Given the description of an element on the screen output the (x, y) to click on. 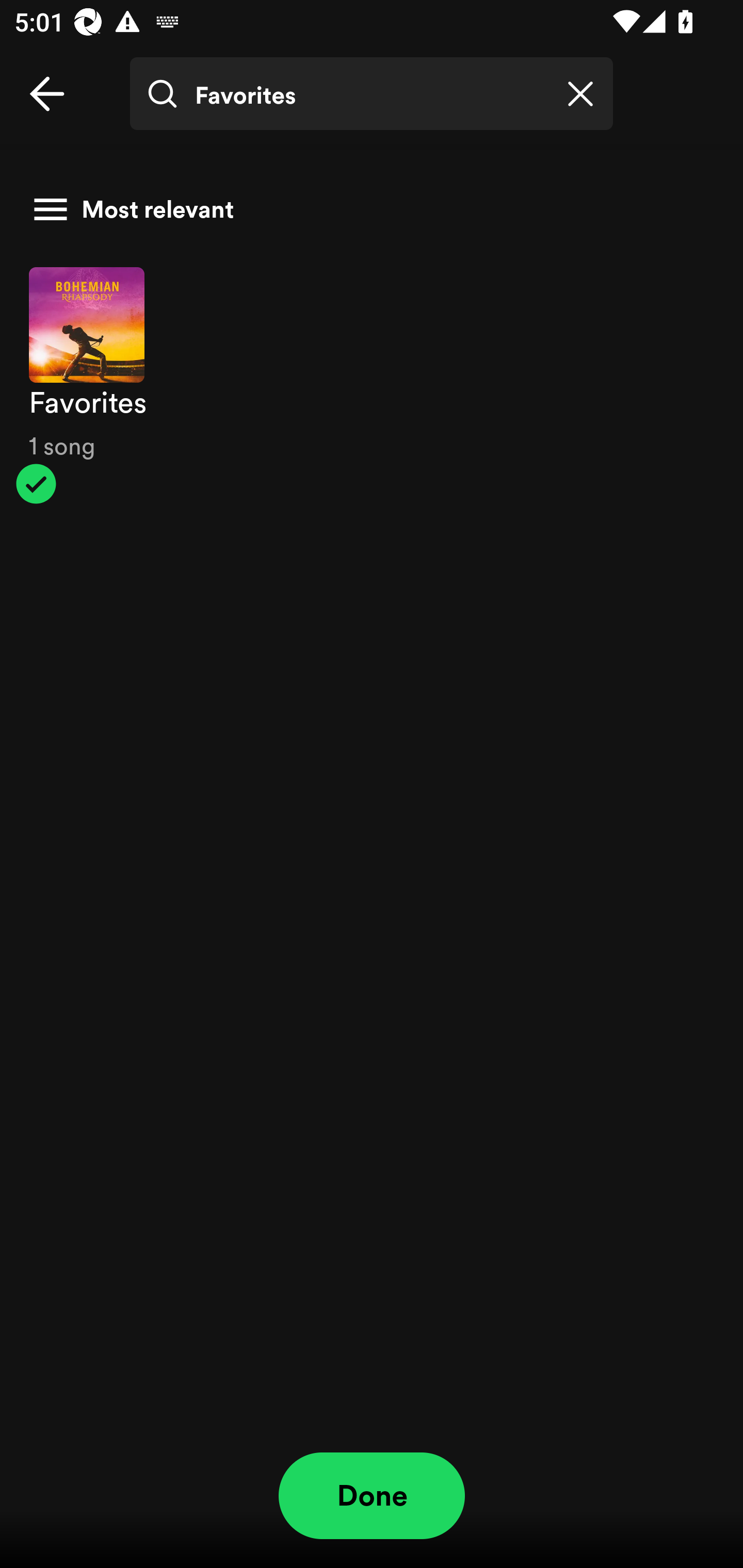
Back (46, 93)
Favorites Find playlist (371, 94)
Clear Find playlist (580, 94)
Most relevant (363, 209)
Favorites 1 song (371, 386)
Done (371, 1495)
